Given the description of an element on the screen output the (x, y) to click on. 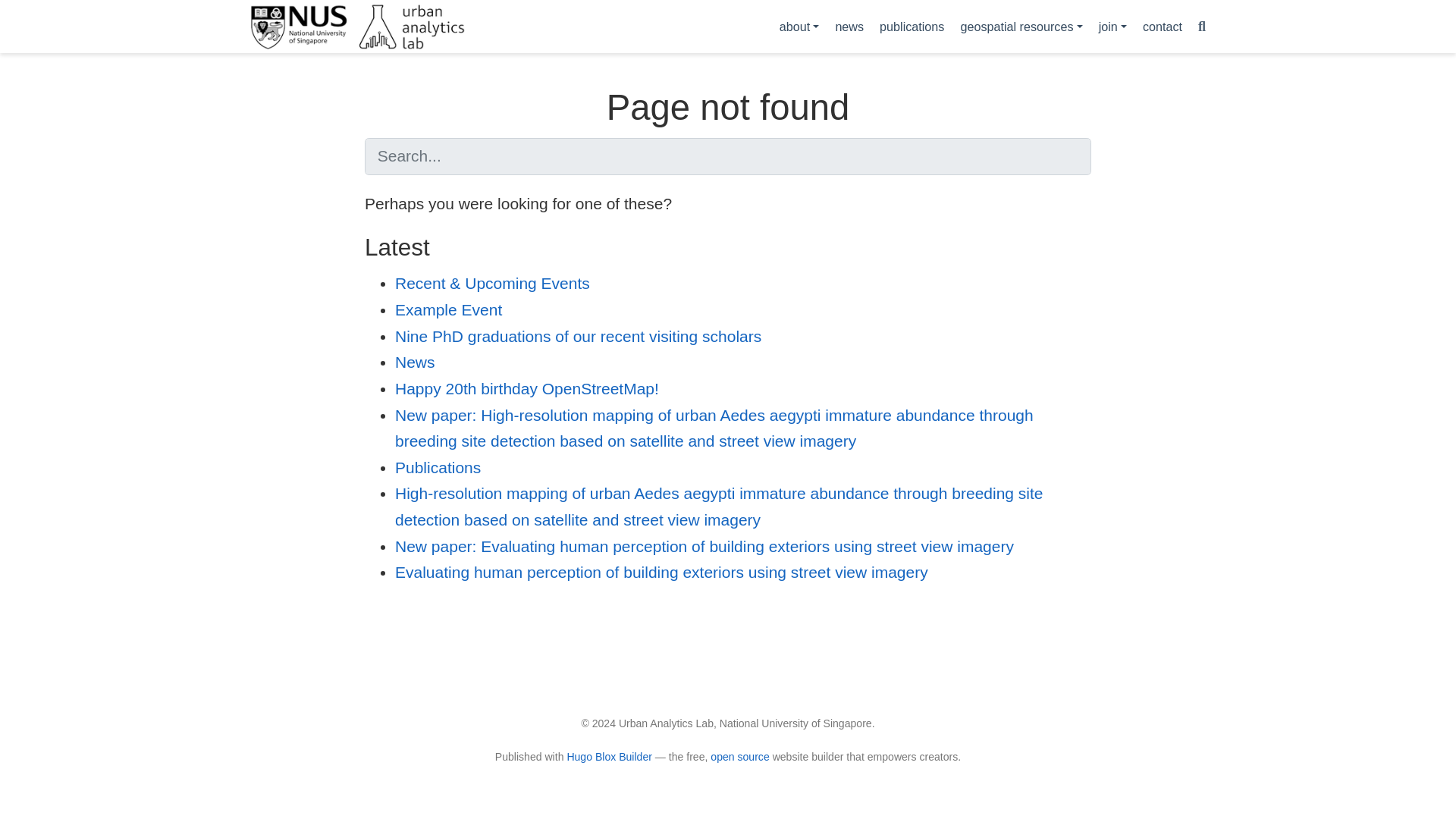
news (849, 25)
Nine PhD graduations of our recent visiting scholars (577, 335)
Happy 20th birthday OpenStreetMap! (526, 388)
Hugo Blox Builder (609, 756)
News (414, 361)
Publications (437, 466)
geospatial resources (1021, 25)
contact (1161, 25)
publications (912, 25)
